Given the description of an element on the screen output the (x, y) to click on. 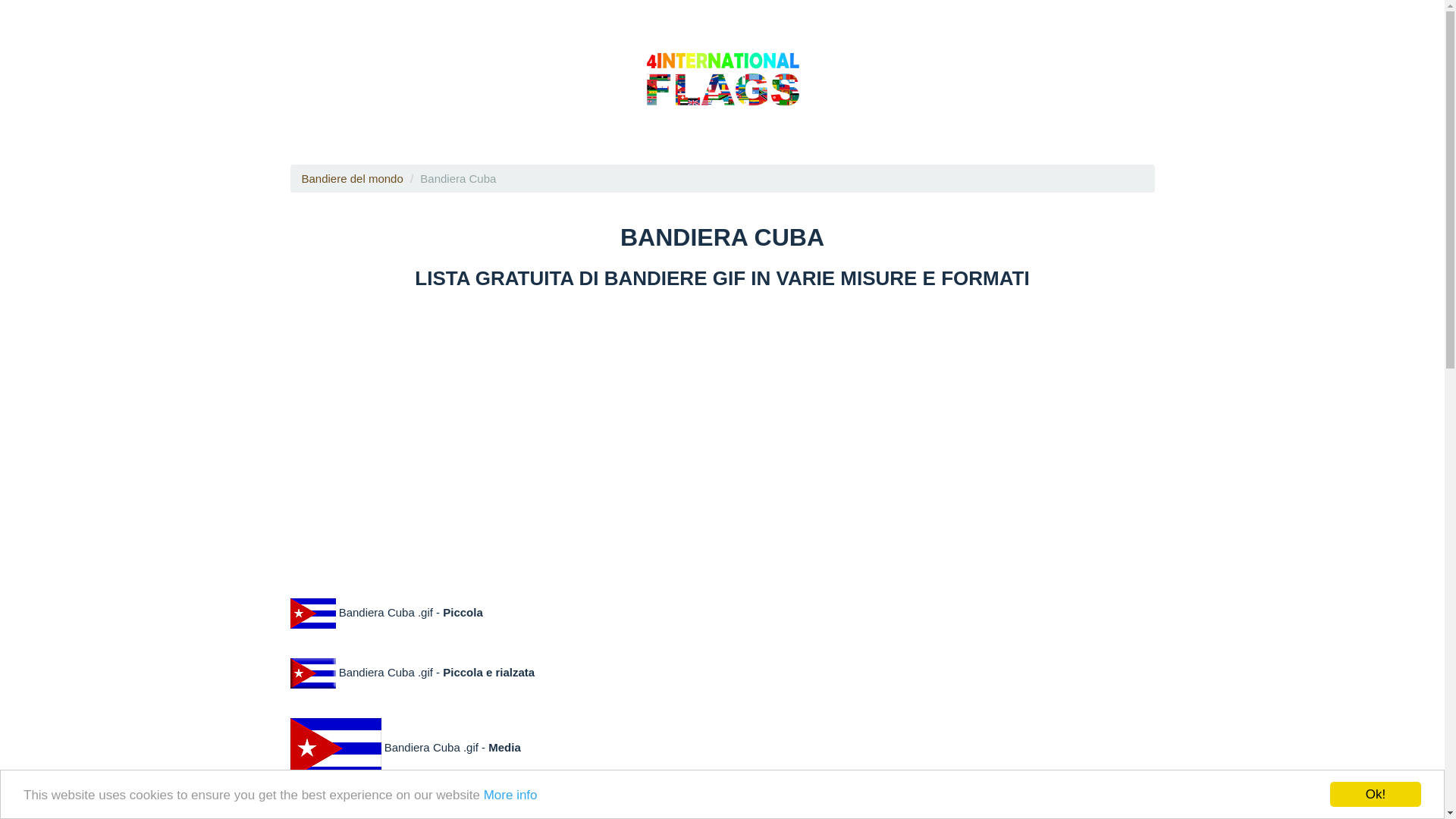
Advertisement Element type: hover (721, 432)
Ok! Element type: text (1375, 793)
Bandiere del mondo Element type: text (352, 178)
More info Element type: text (510, 794)
